Given the description of an element on the screen output the (x, y) to click on. 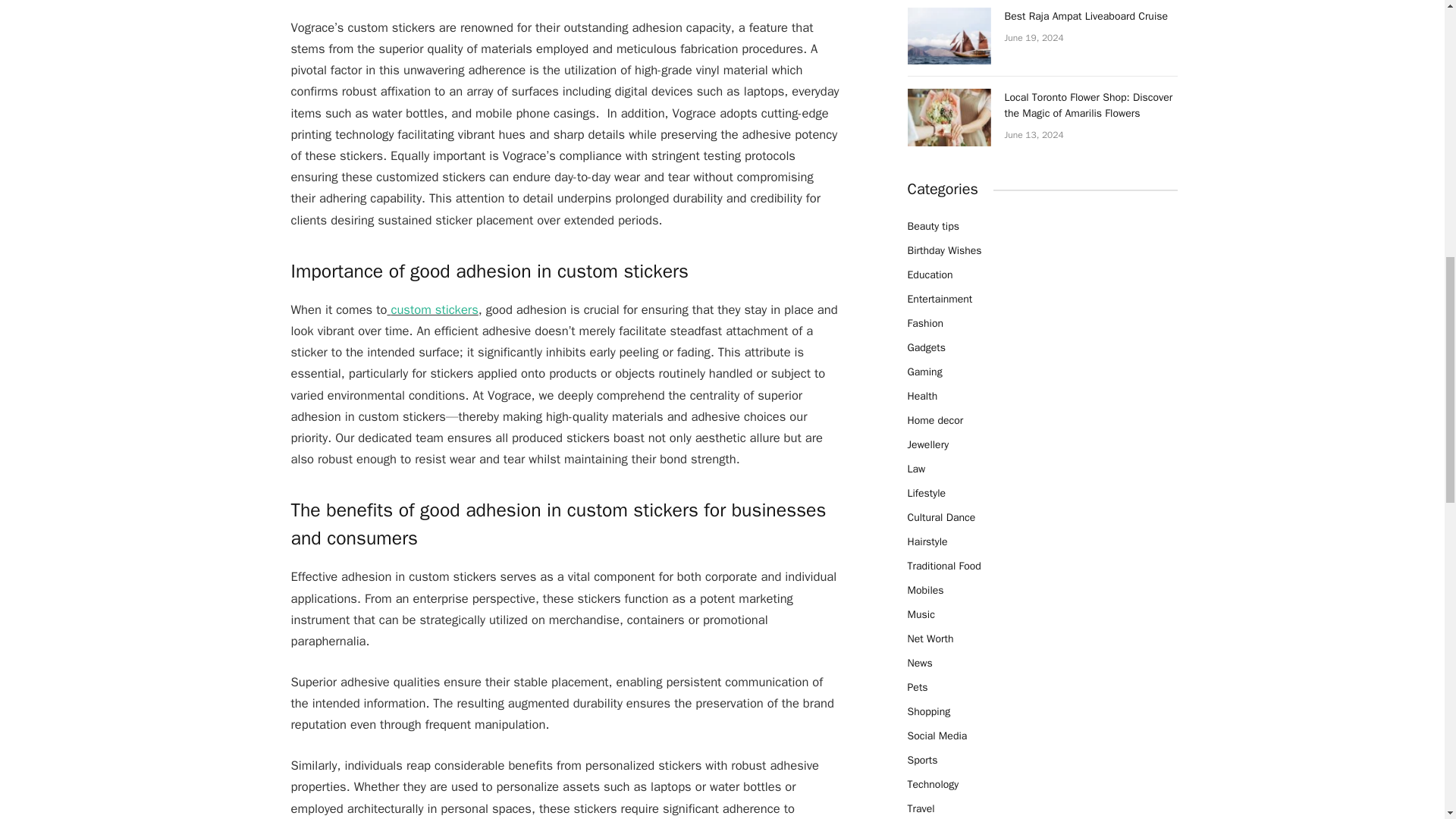
custom stickers (433, 309)
